Given the description of an element on the screen output the (x, y) to click on. 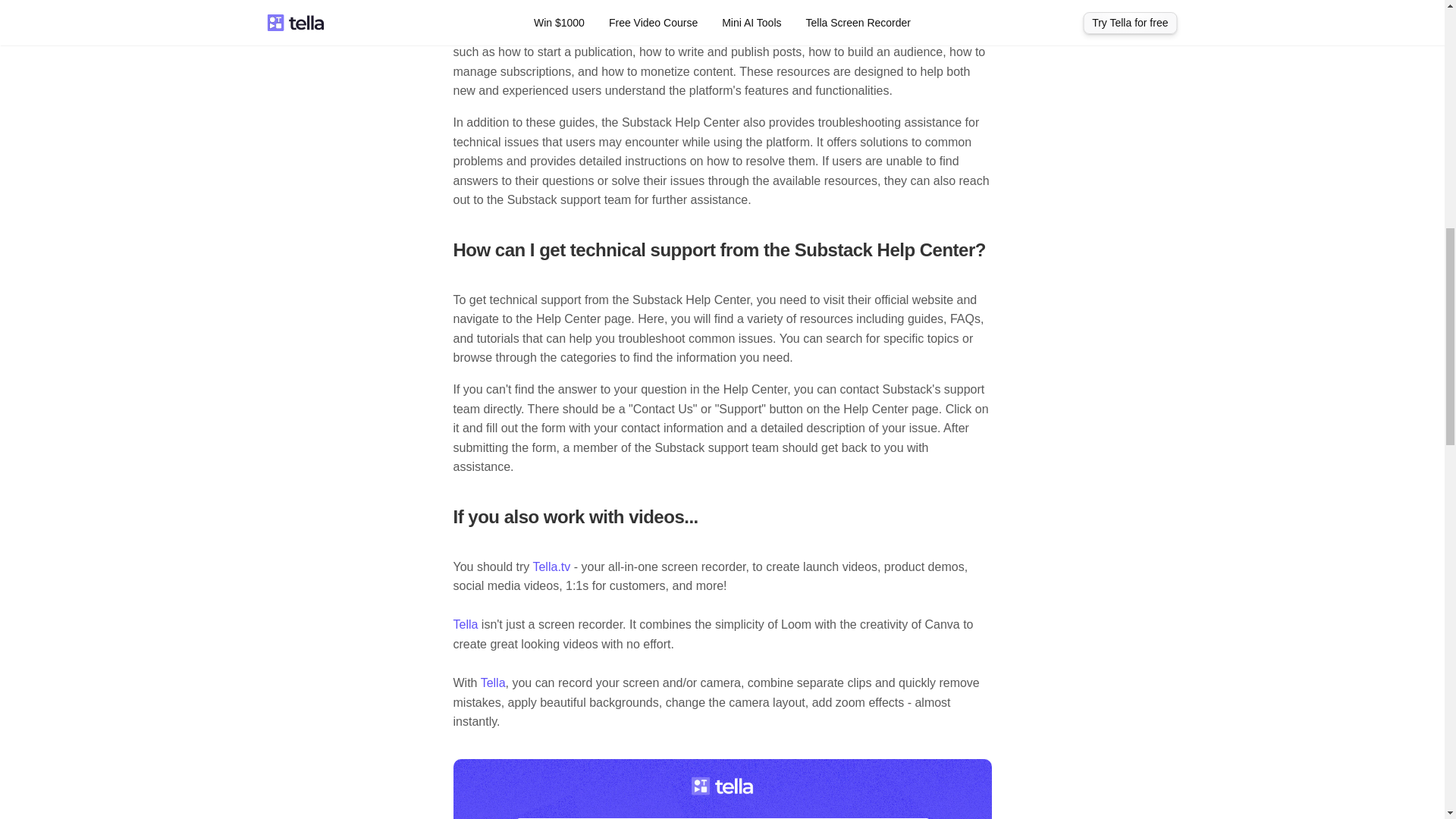
Tella screen recorder (721, 789)
Tella (465, 624)
Tella.tv (551, 566)
Tella (492, 682)
